Given the description of an element on the screen output the (x, y) to click on. 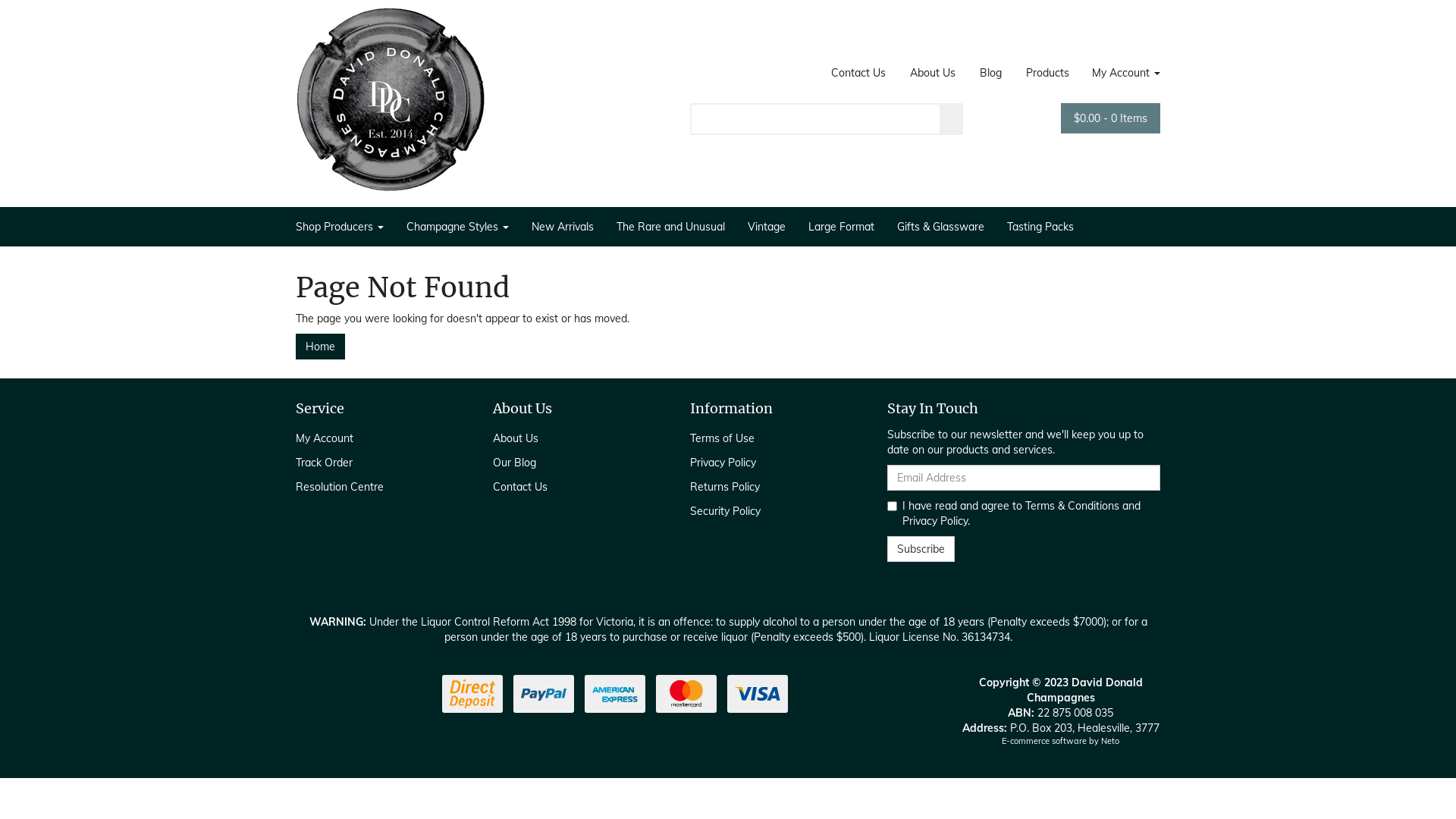
Home Element type: text (320, 346)
$0.00 - 0 Items Element type: text (1110, 118)
Privacy Policy Element type: text (934, 520)
Privacy Policy Element type: text (771, 462)
Contact Us Element type: text (574, 486)
Our Blog Element type: text (574, 462)
Blog Element type: text (990, 72)
Returns Policy Element type: text (771, 486)
Subscribe Element type: text (920, 548)
Resolution Centre Element type: text (377, 486)
About Us Element type: text (932, 72)
Large Format Element type: text (841, 226)
Vintage Element type: text (766, 226)
Tasting Packs Element type: text (1040, 226)
Gifts & Glassware Element type: text (940, 226)
Neto Element type: text (1110, 740)
Champagne Styles Element type: text (457, 226)
Products Element type: text (1047, 72)
Track Order Element type: text (377, 462)
Contact Us Element type: text (858, 72)
My Account Element type: text (1120, 72)
Security Policy Element type: text (771, 510)
Search Element type: text (951, 118)
New Arrivals Element type: text (562, 226)
Shop Producers Element type: text (345, 226)
Terms of Use Element type: text (771, 437)
Terms & Conditions Element type: text (1072, 505)
My Account Element type: text (377, 437)
David Donald Champagnes Element type: hover (390, 94)
The Rare and Unusual Element type: text (670, 226)
About Us Element type: text (574, 437)
